Given the description of an element on the screen output the (x, y) to click on. 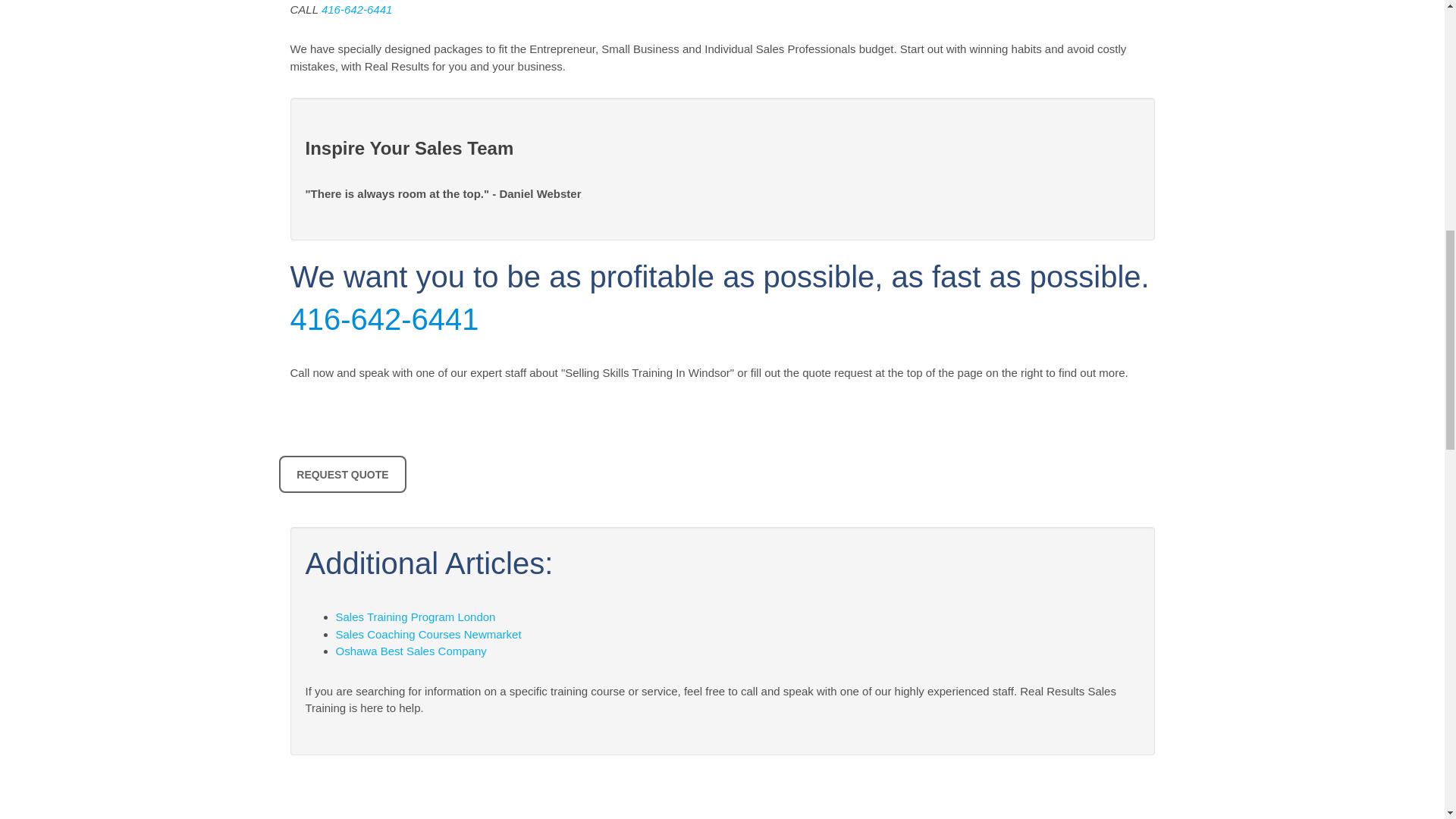
Sales Coaching Courses Newmarket (427, 634)
  REQUEST QUOTE   (343, 474)
Oshawa Best Sales Company (410, 650)
416-642-6441 (356, 9)
Sales Training Program London (414, 616)
416-642-6441 (384, 318)
